Given the description of an element on the screen output the (x, y) to click on. 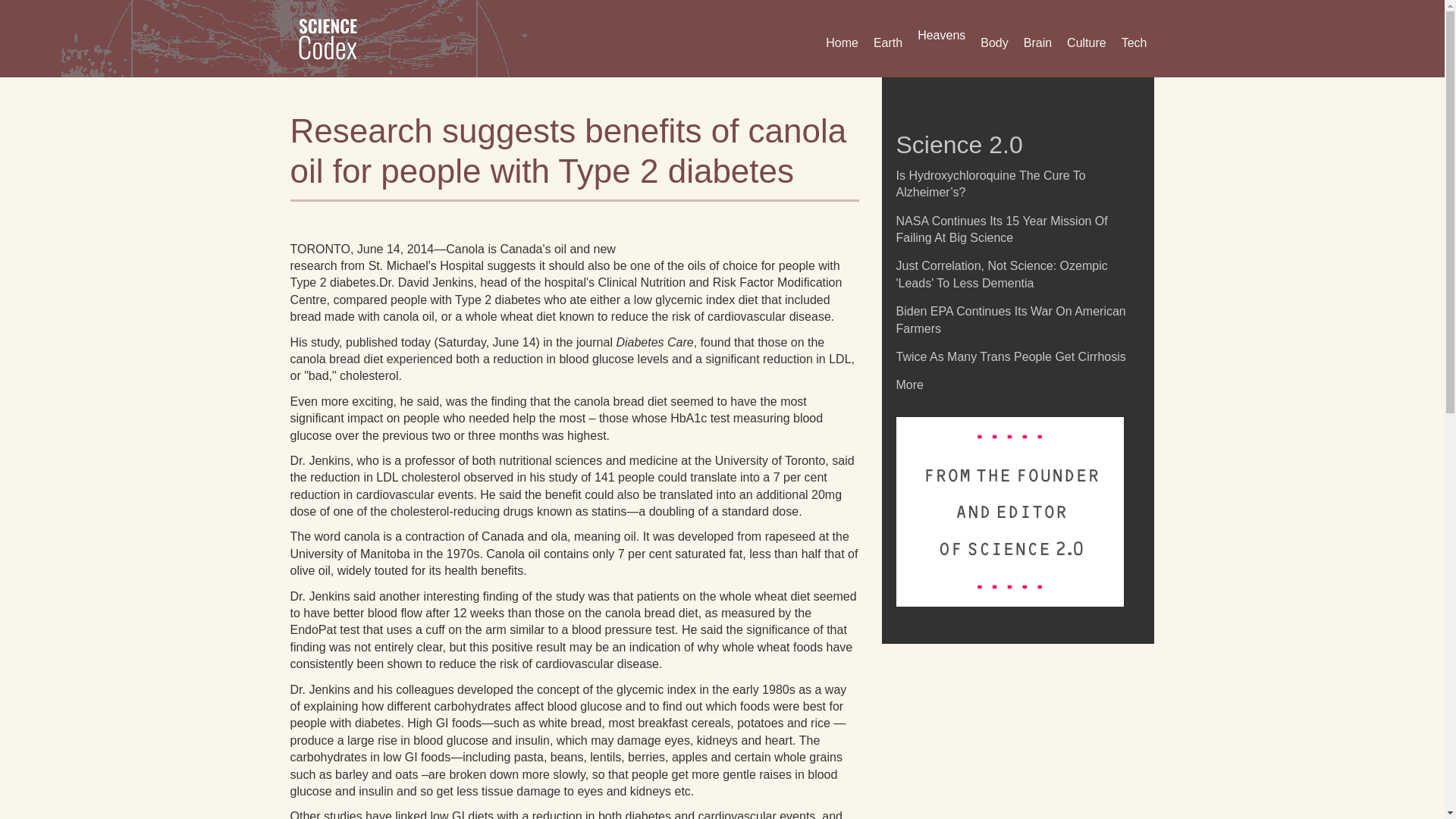
Biden EPA Continues Its War On American Farmers (1010, 319)
Tech (1133, 42)
Twice As Many Trans People Get Cirrhosis (1010, 356)
Culture (1086, 42)
View this feed's recent news. (909, 384)
Brain (1037, 42)
Heavens (941, 35)
Home (842, 42)
Earth (888, 42)
Body (993, 42)
More (909, 384)
NASA Continues Its 15 Year Mission Of Failing At Big Science (1002, 229)
Home (333, 38)
